Given the description of an element on the screen output the (x, y) to click on. 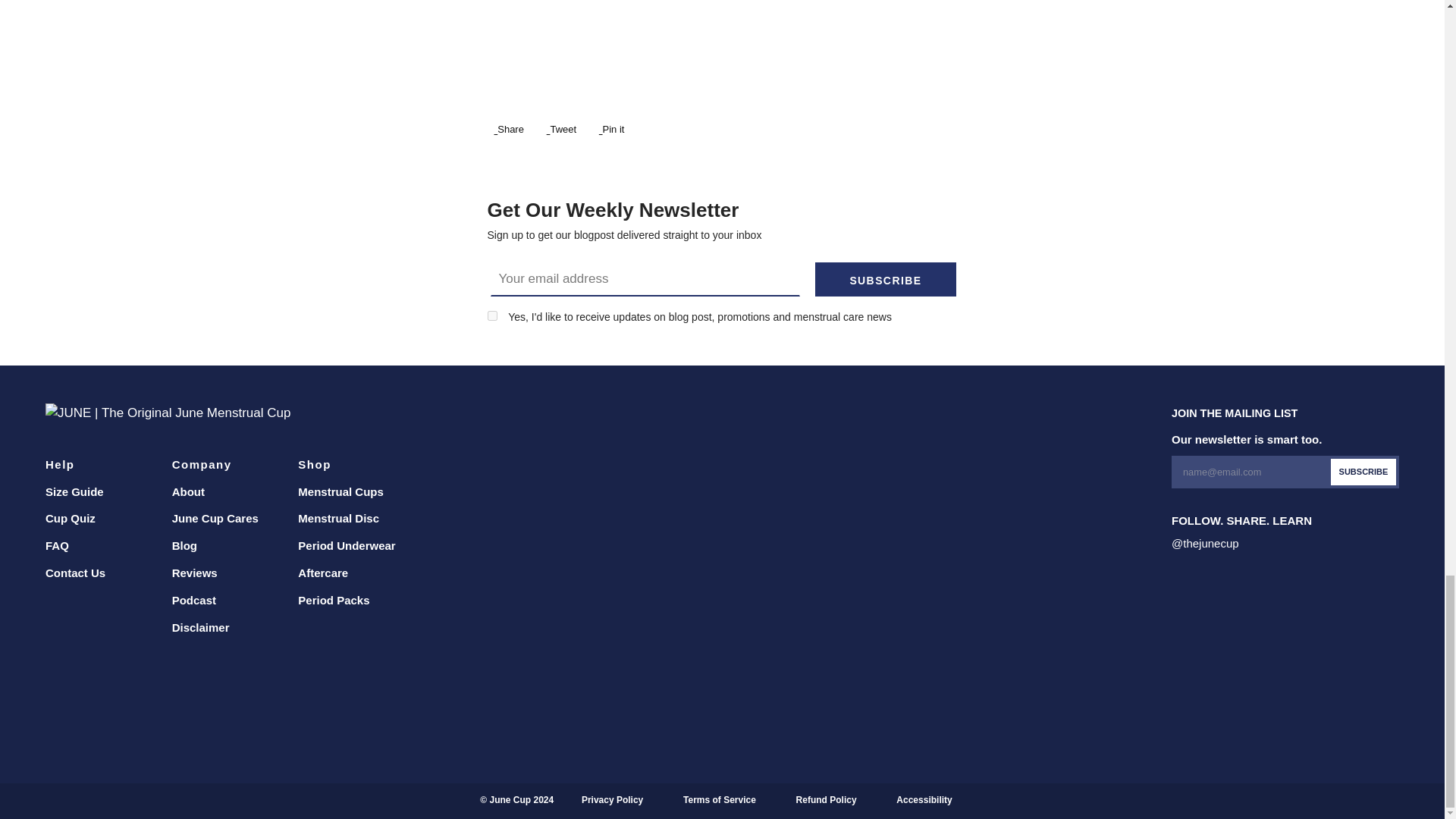
About (188, 491)
Podcast (193, 599)
Cup Quiz (70, 517)
June Cup Cares (215, 517)
Share on Facebook (506, 128)
Pin on Pinterest (609, 128)
Menstrual Cups (341, 491)
SUBSCRIBE (885, 279)
Disclaimer (200, 626)
Tweet on Twitter (559, 128)
